Given the description of an element on the screen output the (x, y) to click on. 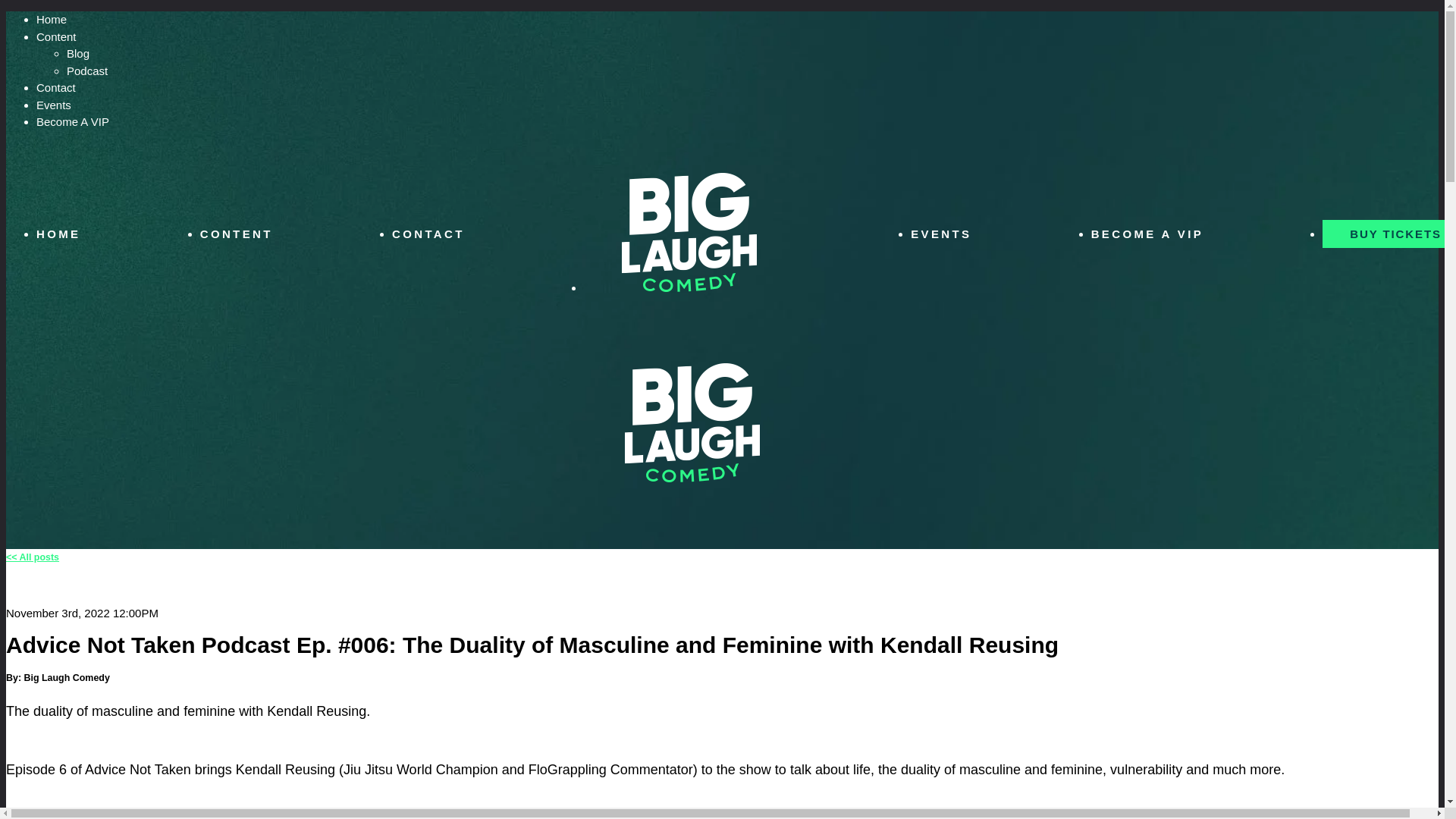
Contact (55, 87)
CONTENT (245, 232)
HOME (67, 232)
BECOME A VIP (1155, 232)
Content (56, 36)
Become A VIP (72, 121)
Blog (77, 52)
Podcast (86, 69)
CONTACT (437, 232)
Events (53, 104)
EVENTS (950, 232)
Home (51, 19)
